Given the description of an element on the screen output the (x, y) to click on. 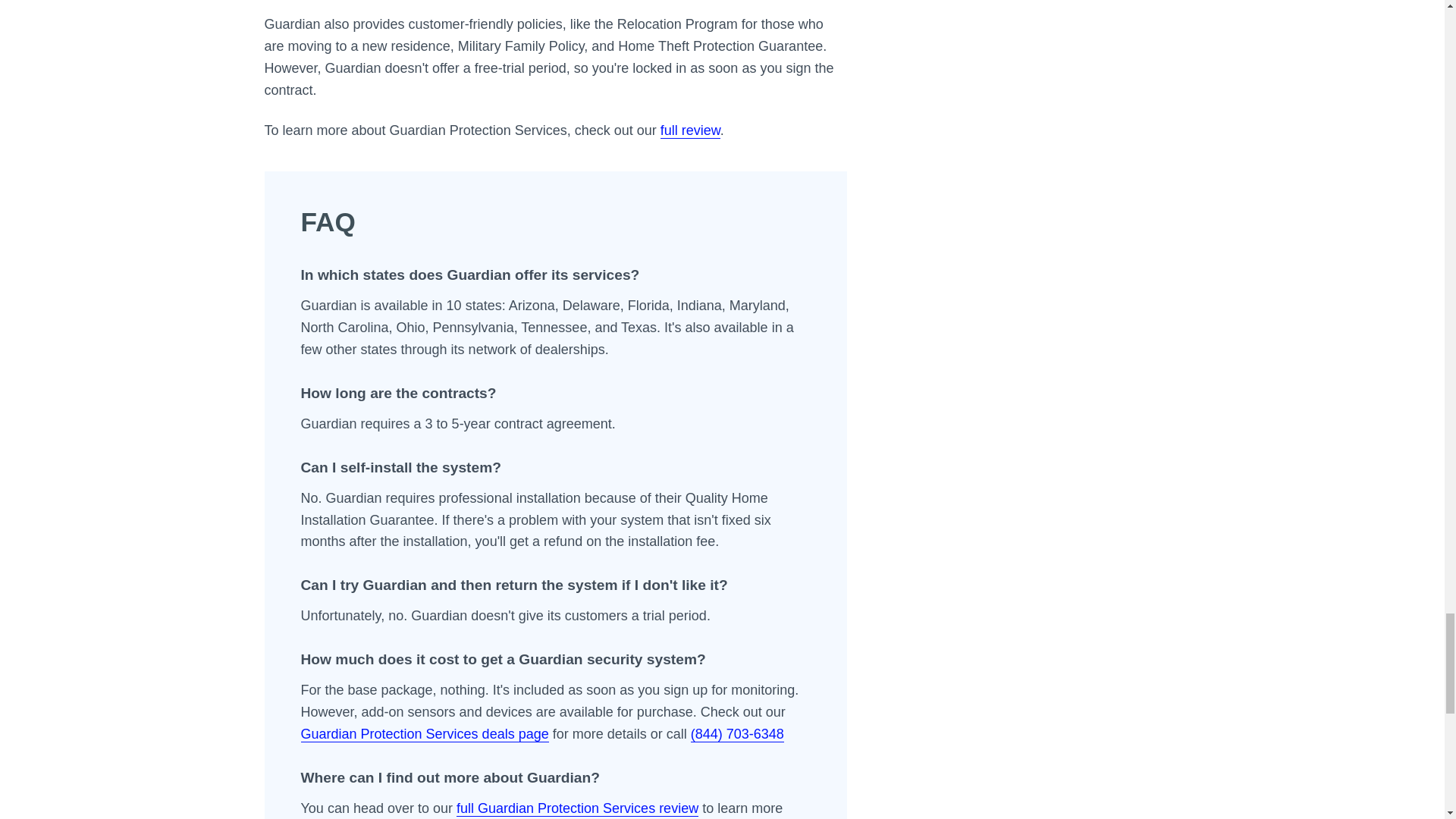
Guardian Protection Services deals page (423, 734)
full Guardian Protection Services review (577, 808)
full review (690, 130)
